Given the description of an element on the screen output the (x, y) to click on. 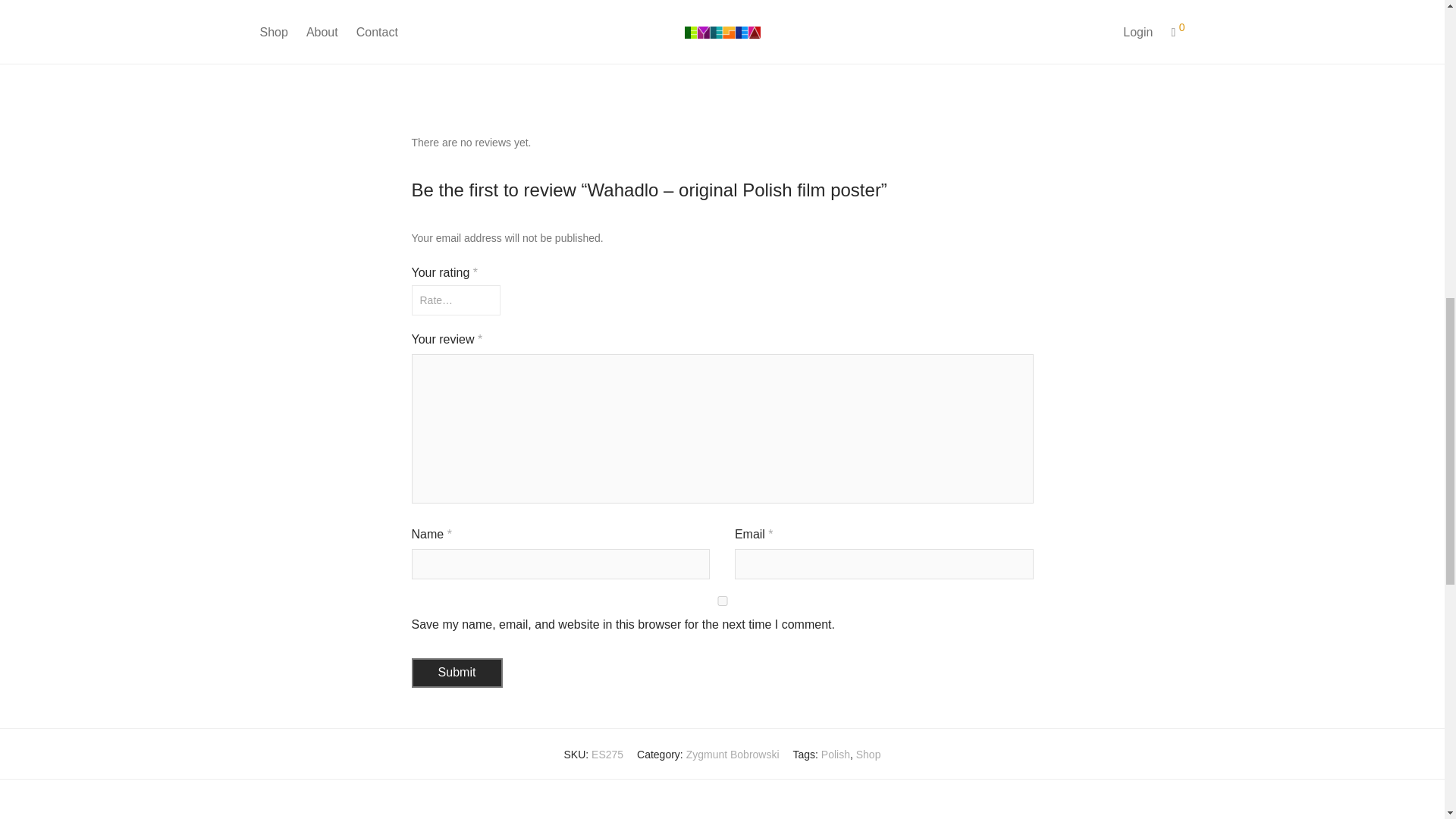
Submit (456, 672)
Shop (868, 754)
Submit (456, 672)
Zygmunt Bobrowski (731, 754)
Polish (835, 754)
yes (721, 601)
